Given the description of an element on the screen output the (x, y) to click on. 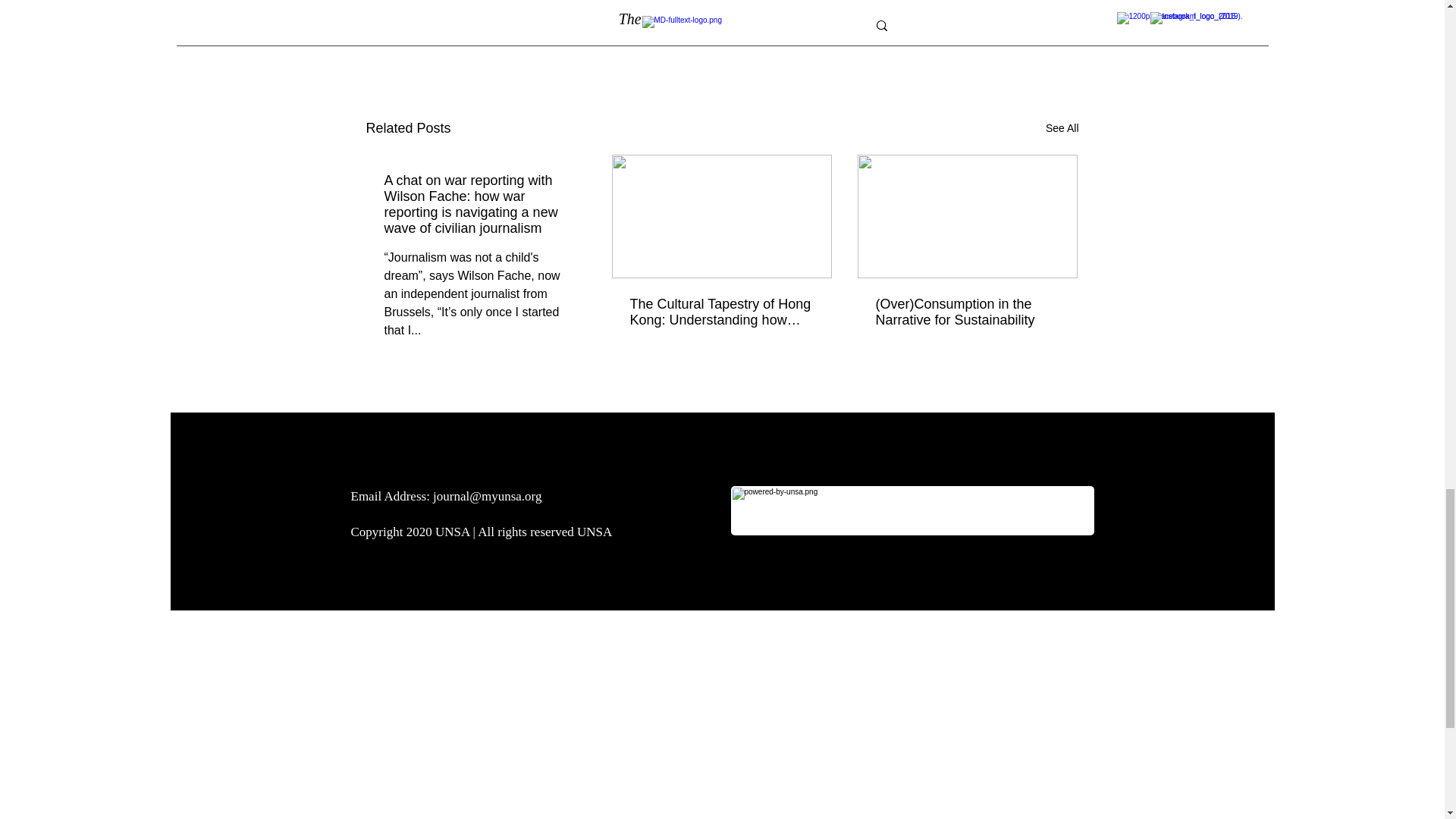
See All (1061, 128)
All posts (982, 31)
